Given the description of an element on the screen output the (x, y) to click on. 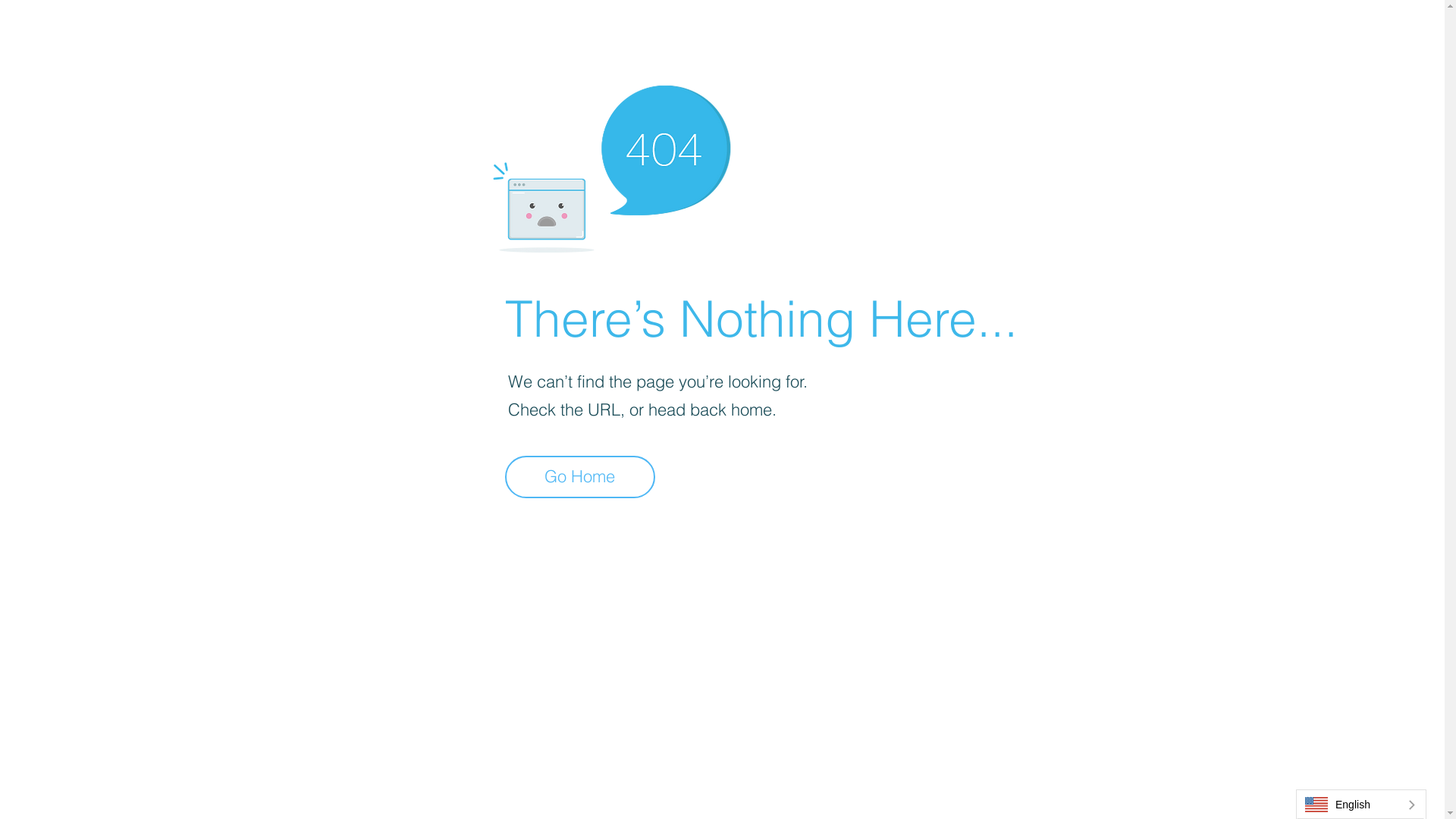
Go Home Element type: text (580, 476)
404-icon_2.png Element type: hover (610, 164)
